Given the description of an element on the screen output the (x, y) to click on. 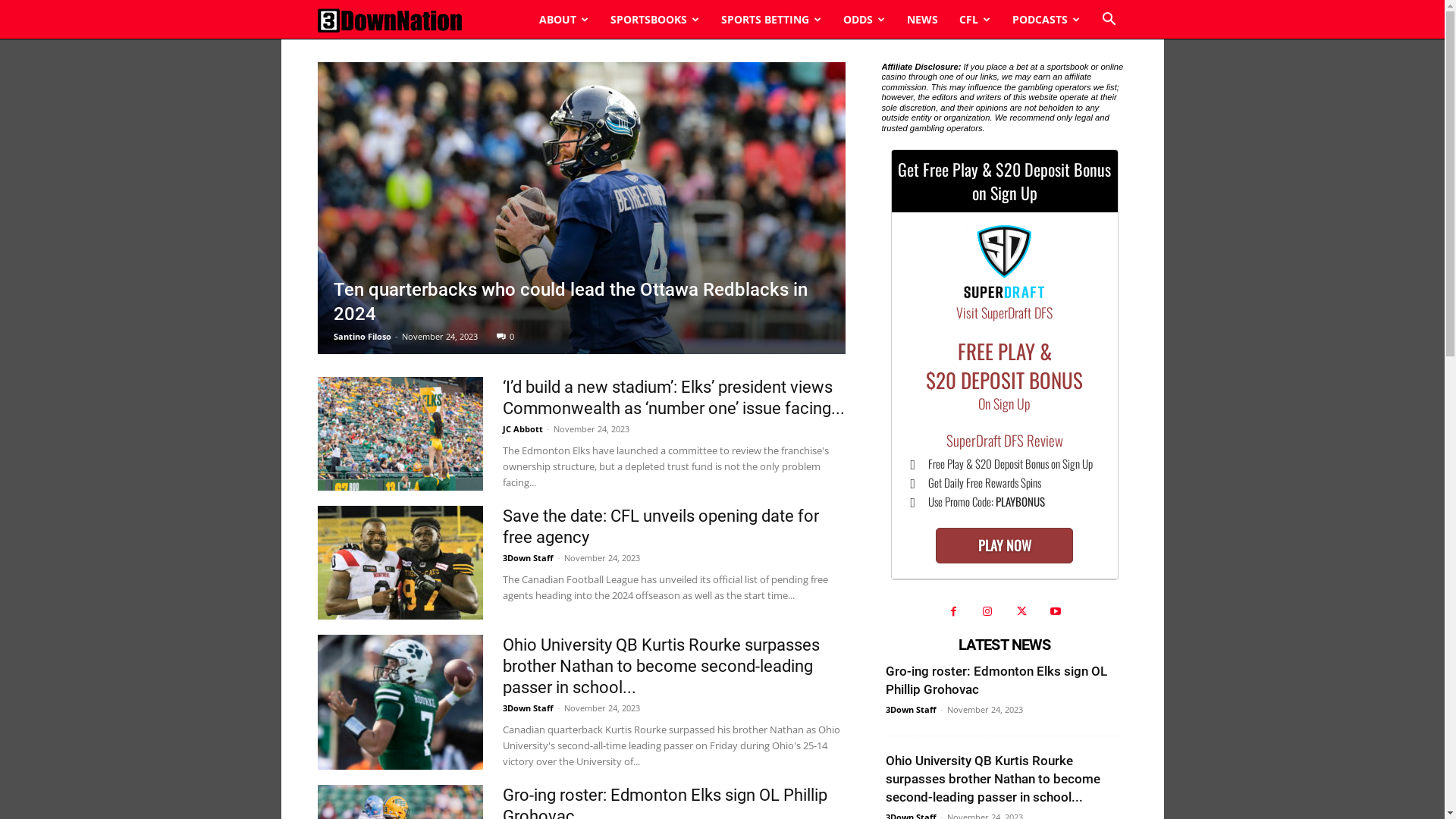
SuperDraft DFS Element type: hover (1004, 265)
Youtube Element type: hover (1054, 612)
Santino Filoso Element type: text (362, 336)
Search Element type: text (1085, 81)
0 Element type: text (504, 336)
Save the date: CFL unveils opening date for free agency Element type: text (660, 526)
Twitter Element type: hover (1021, 612)
NEWS Element type: text (922, 19)
CFL Element type: text (974, 19)
Gro-ing roster: Edmonton Elks sign OL Phillip Grohovac Element type: text (996, 679)
ABOUT Element type: text (563, 19)
JC Abbott Element type: text (522, 428)
SPORTS BETTING Element type: text (770, 19)
SPORTSBOOKS Element type: text (654, 19)
Facebook Element type: hover (953, 612)
SuperDraft DFS Review Element type: text (1004, 440)
Ten quarterbacks who could lead the Ottawa Redblacks in 2024 Element type: hover (580, 208)
Visit SuperDraft DFS Element type: text (1004, 312)
3Down Staff Element type: text (910, 709)
Save the date: CFL unveils opening date for free agency Element type: hover (399, 562)
PLAY NOW Element type: text (1004, 545)
PODCASTS Element type: text (1045, 19)
3Down Staff Element type: text (527, 557)
Ten quarterbacks who could lead the Ottawa Redblacks in 2024 Element type: text (570, 301)
ODDS Element type: text (864, 19)
3Down Staff Element type: text (527, 707)
Instagram Element type: hover (986, 612)
3DownNation Element type: text (388, 19)
